Given the description of an element on the screen output the (x, y) to click on. 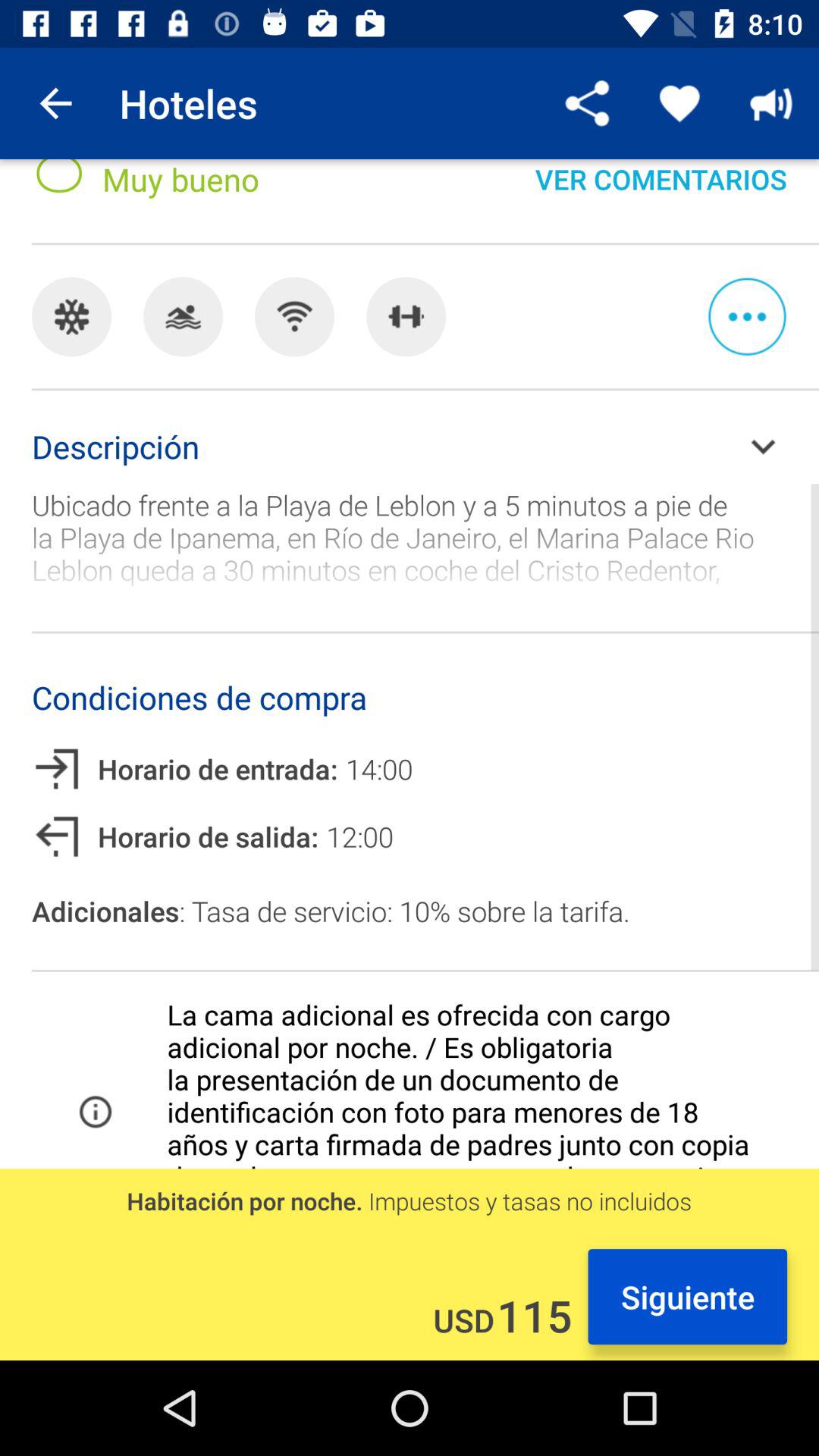
launch item next to the muy bueno icon (661, 192)
